Given the description of an element on the screen output the (x, y) to click on. 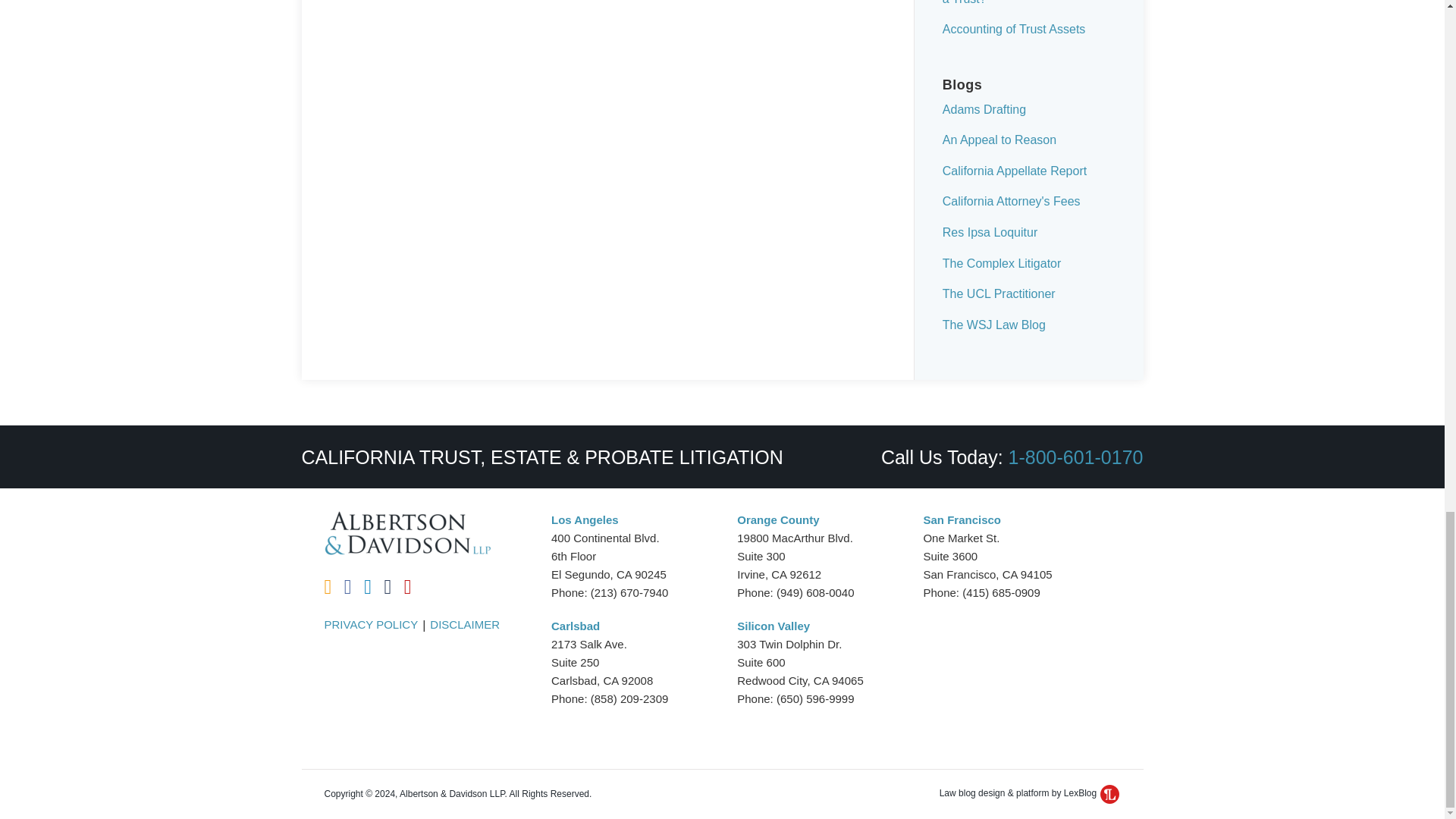
Can a Minor be a Beneficiary of a Trust? (1027, 2)
LexBlog Logo (1109, 793)
Accounting of Trust Assets (1014, 29)
